Given the description of an element on the screen output the (x, y) to click on. 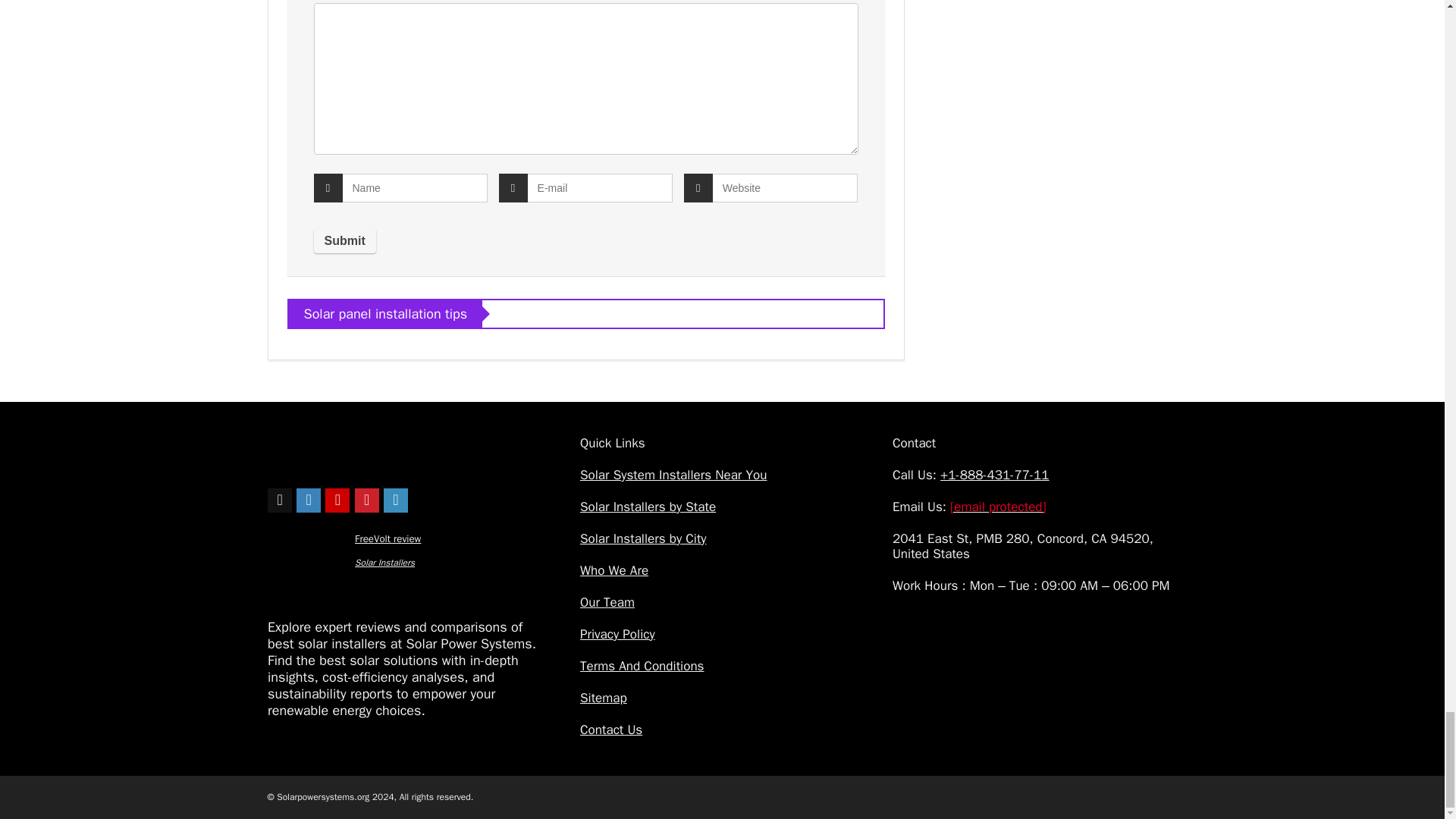
Submit (344, 241)
